Given the description of an element on the screen output the (x, y) to click on. 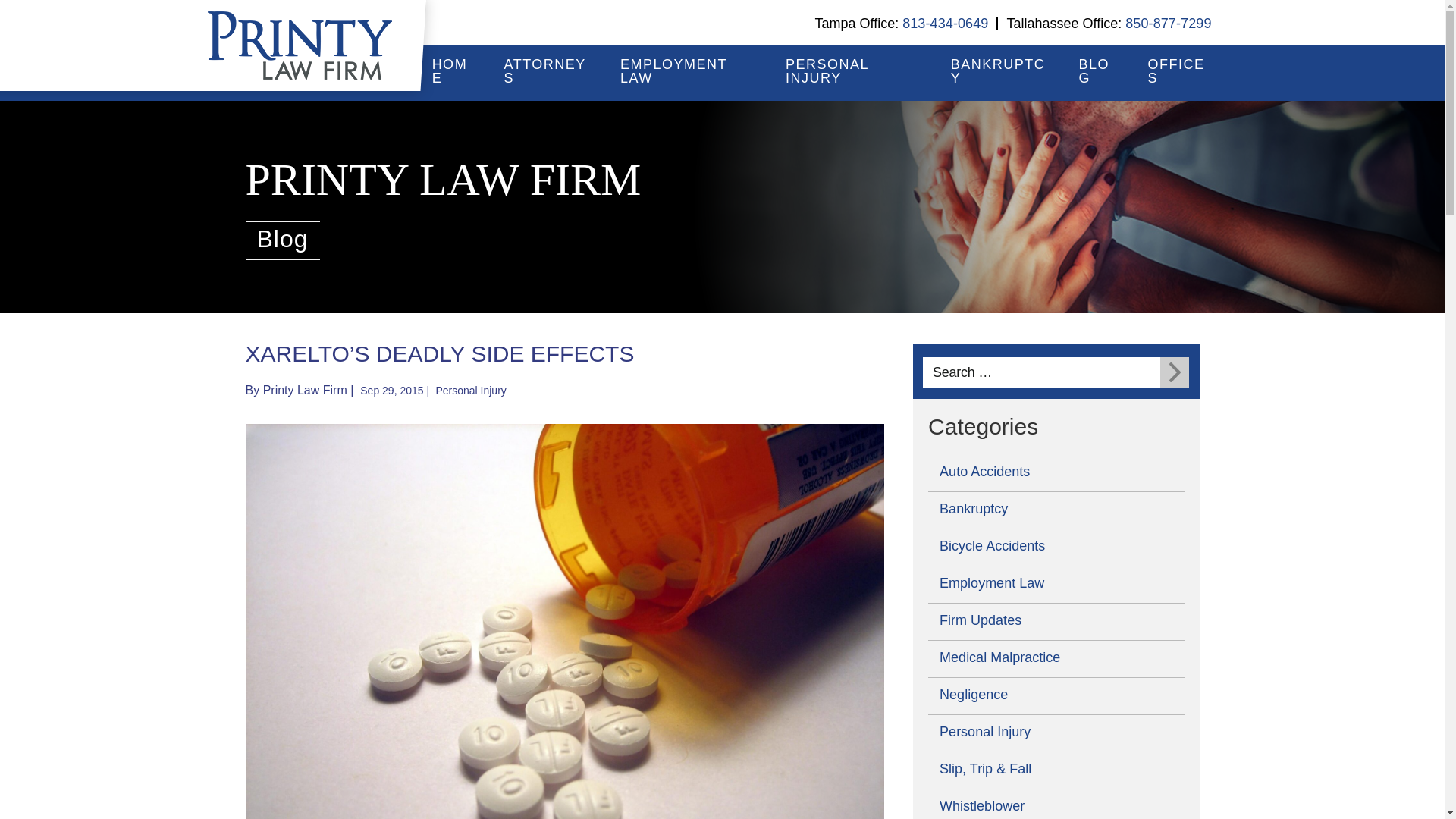
Personal Injury (470, 390)
Printy Law Firm (305, 390)
Search (1174, 372)
850-877-7299 (1168, 23)
BANKRUPTCY (999, 71)
813-434-0649 (945, 23)
ATTORNEYS (547, 71)
PERSONAL INJURY (853, 71)
HOME (454, 71)
OFFICES (1179, 71)
EMPLOYMENT LAW (688, 71)
BLOG (1098, 71)
Search (1174, 372)
